Given the description of an element on the screen output the (x, y) to click on. 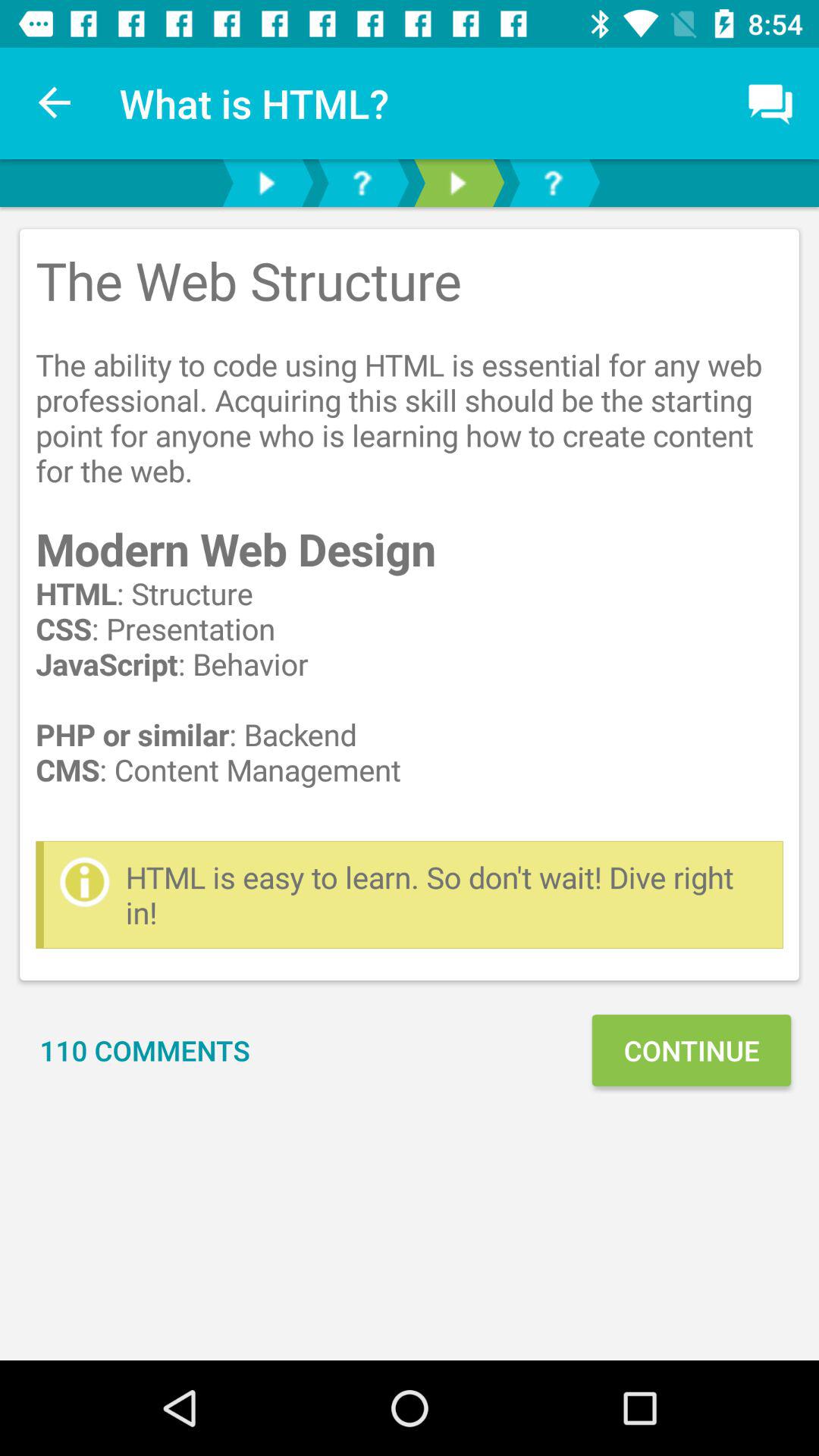
select the 110 comments item (144, 1050)
